Given the description of an element on the screen output the (x, y) to click on. 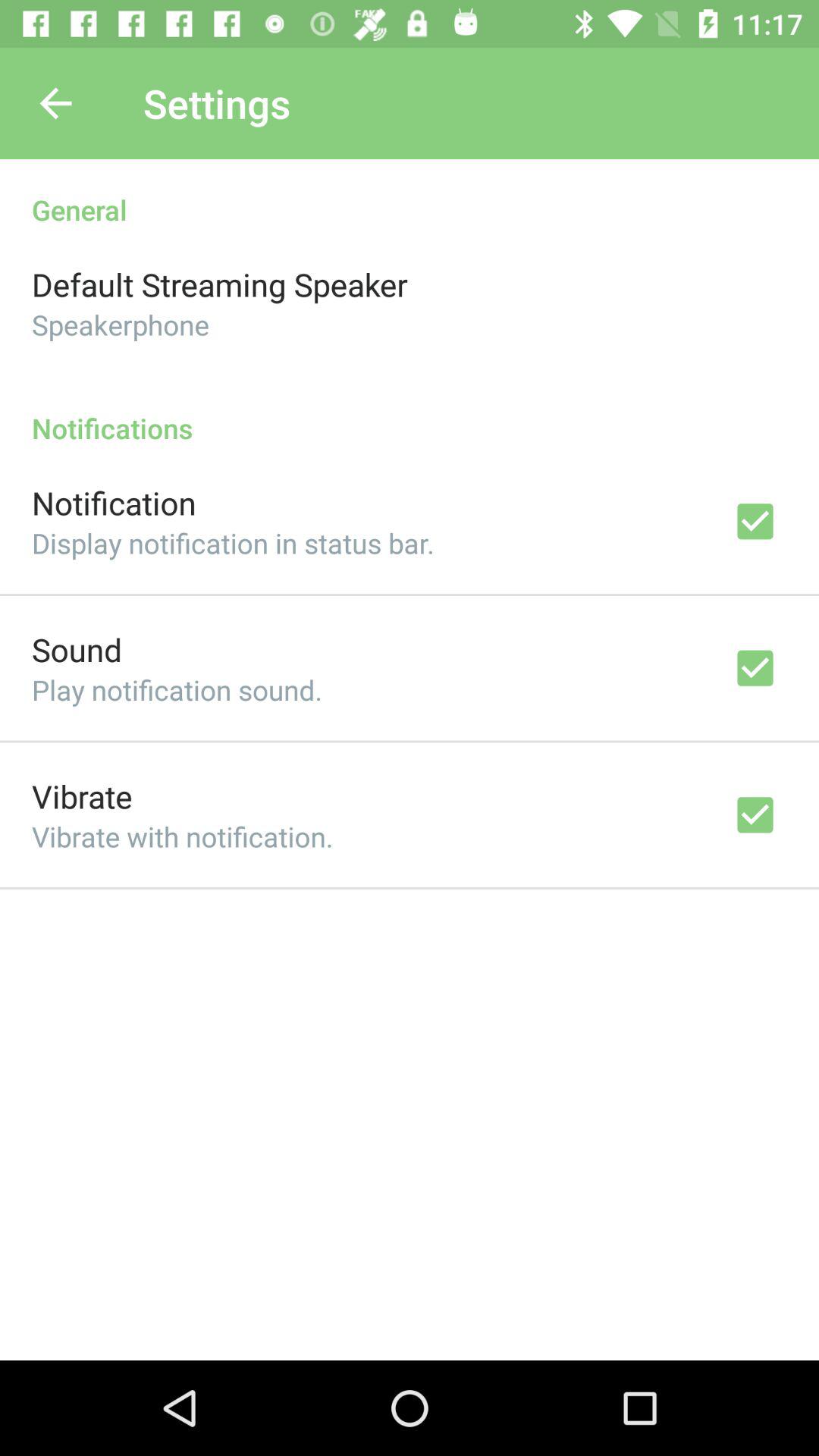
press item below the vibrate item (182, 836)
